Given the description of an element on the screen output the (x, y) to click on. 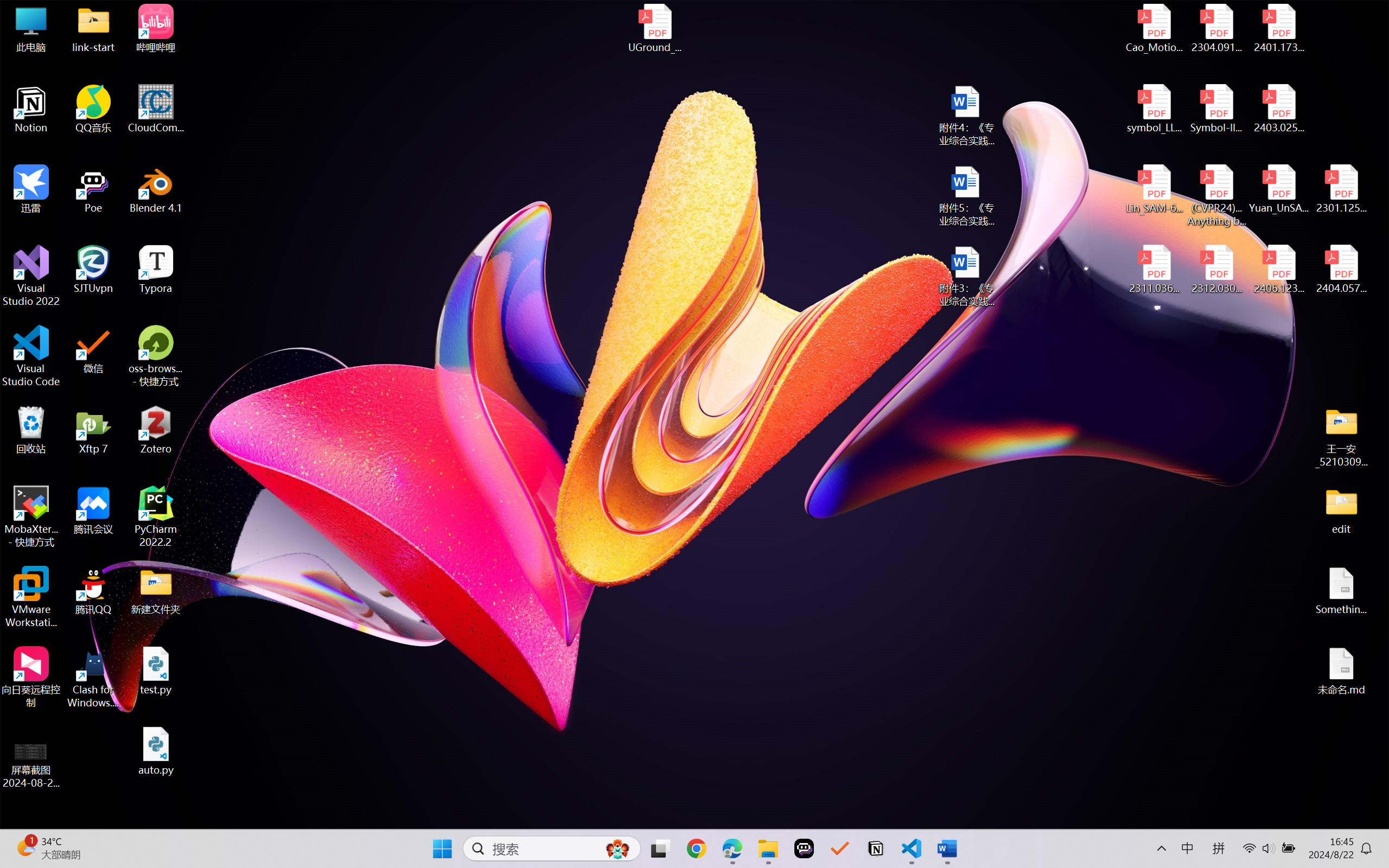
SJTUvpn (93, 269)
Symbol-llm-v2.pdf (1216, 109)
